Given the description of an element on the screen output the (x, y) to click on. 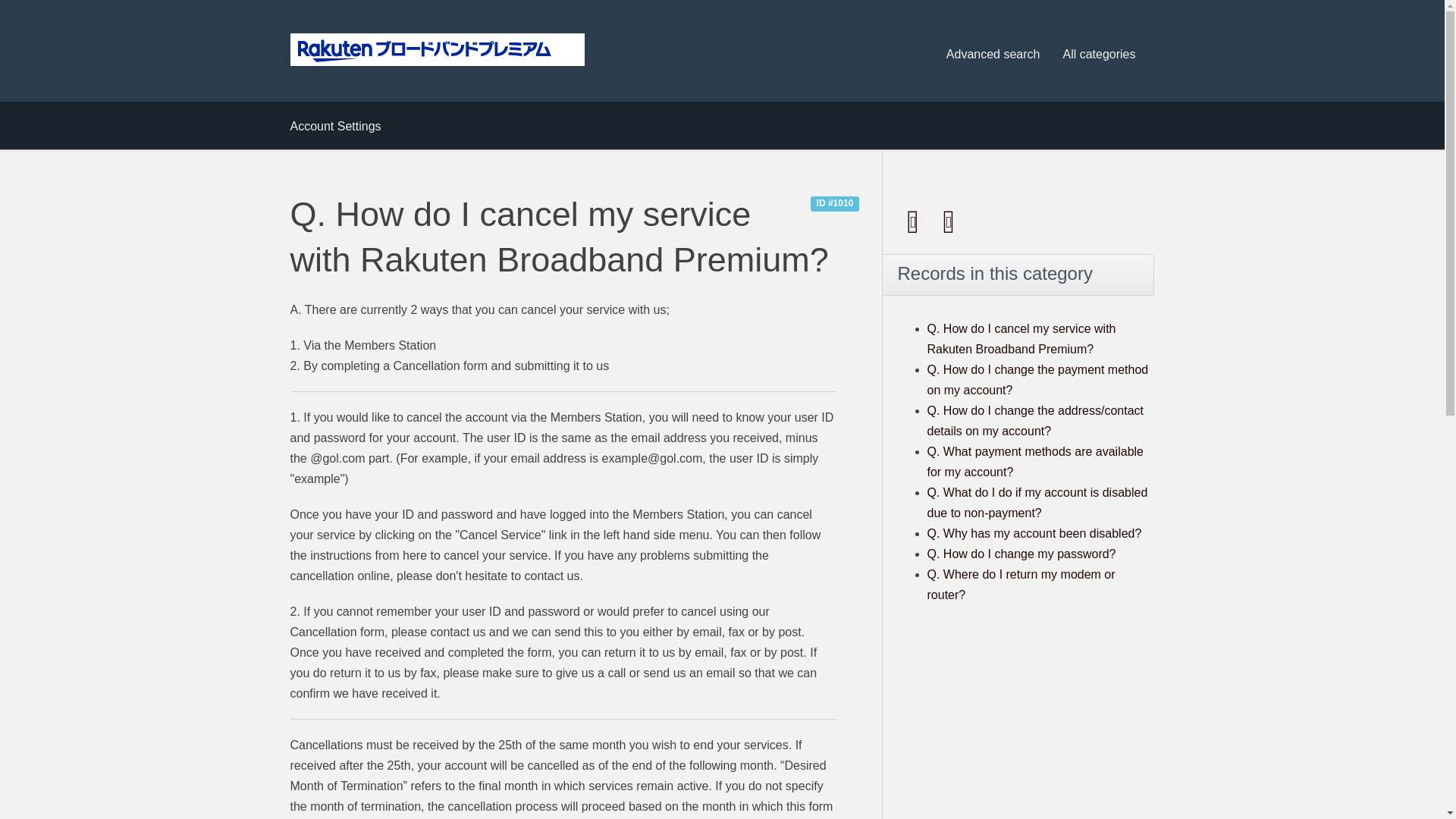
Q. How do I change the payment method on my account? (1037, 379)
Q. What payment methods are available for my account? (1034, 461)
Q. How do I change the payment method on my account? (1037, 379)
Q. What payment methods are available for my account? (1034, 461)
Q. How do I change my password? (1020, 553)
Rakuten Broadband Premium - English Support Page (436, 49)
Q. Why has my account been disabled? (1033, 533)
Account Settings (334, 125)
All categories (1098, 53)
Q. Where do I return my modem or router? (1020, 584)
Q. Why has my account been disabled? (1033, 533)
PDF version (913, 221)
